Given the description of an element on the screen output the (x, y) to click on. 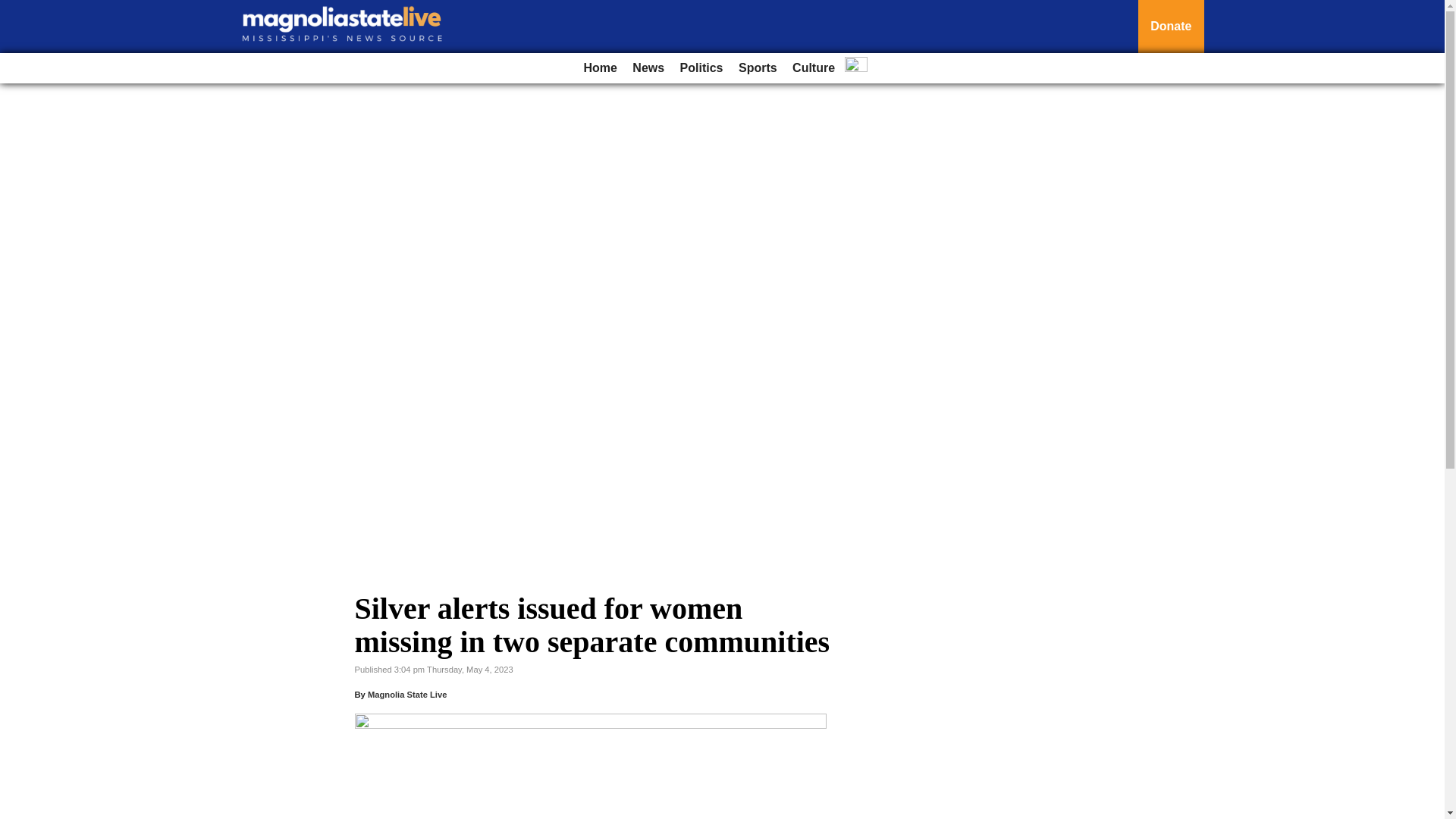
Magnolia State Live (407, 694)
Go (13, 9)
Politics (701, 68)
News (647, 68)
Donate (1171, 26)
Culture (813, 68)
Sports (757, 68)
Home (599, 68)
